Given the description of an element on the screen output the (x, y) to click on. 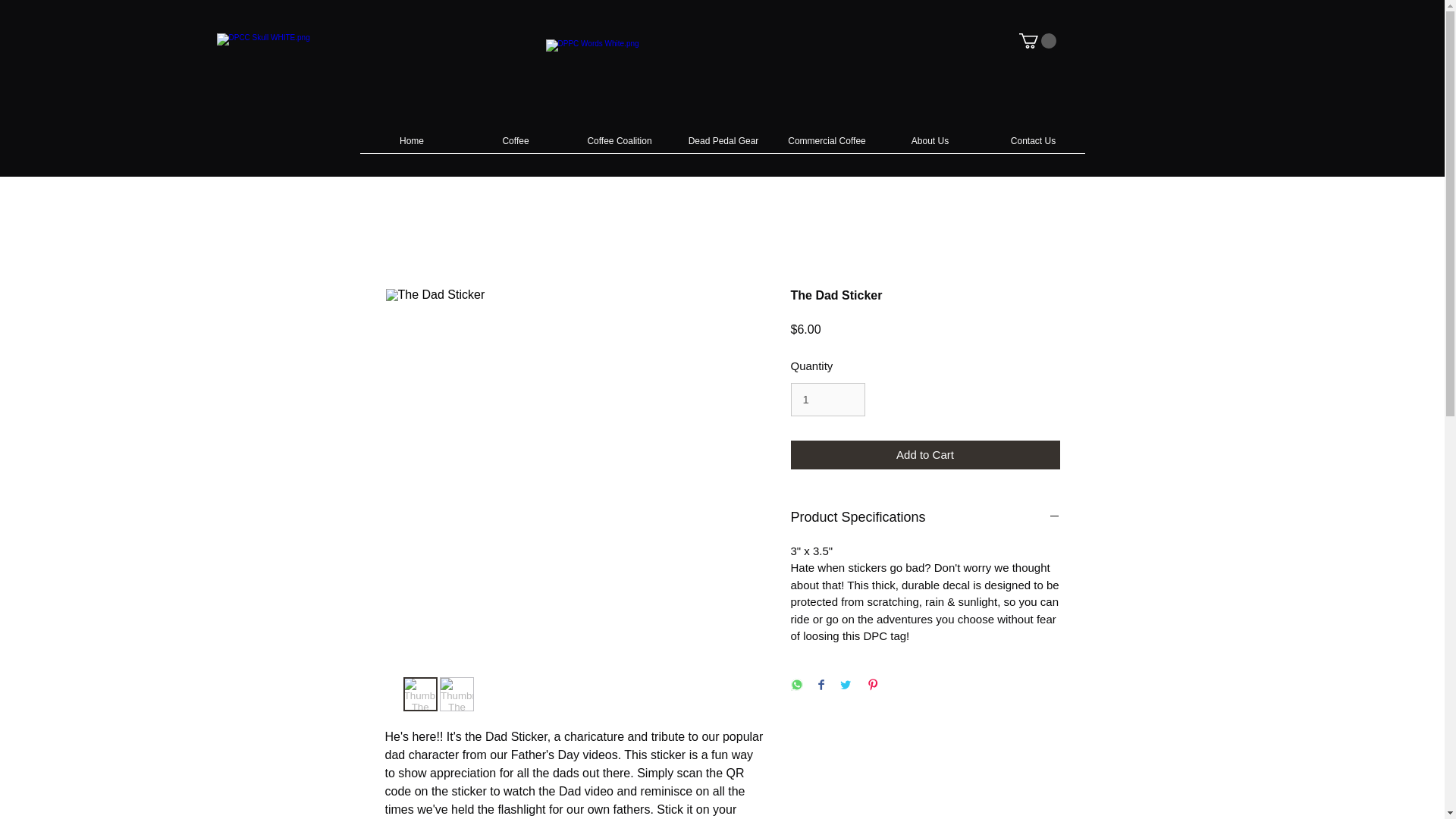
Product Specifications (924, 517)
Coffee Coalition (619, 145)
Commercial Coffee (825, 145)
Dead Pedal Gear (723, 145)
Coffee (515, 145)
Home (411, 145)
Add to Cart (924, 455)
About Us (929, 145)
1 (827, 399)
Contact Us (1032, 145)
